Given the description of an element on the screen output the (x, y) to click on. 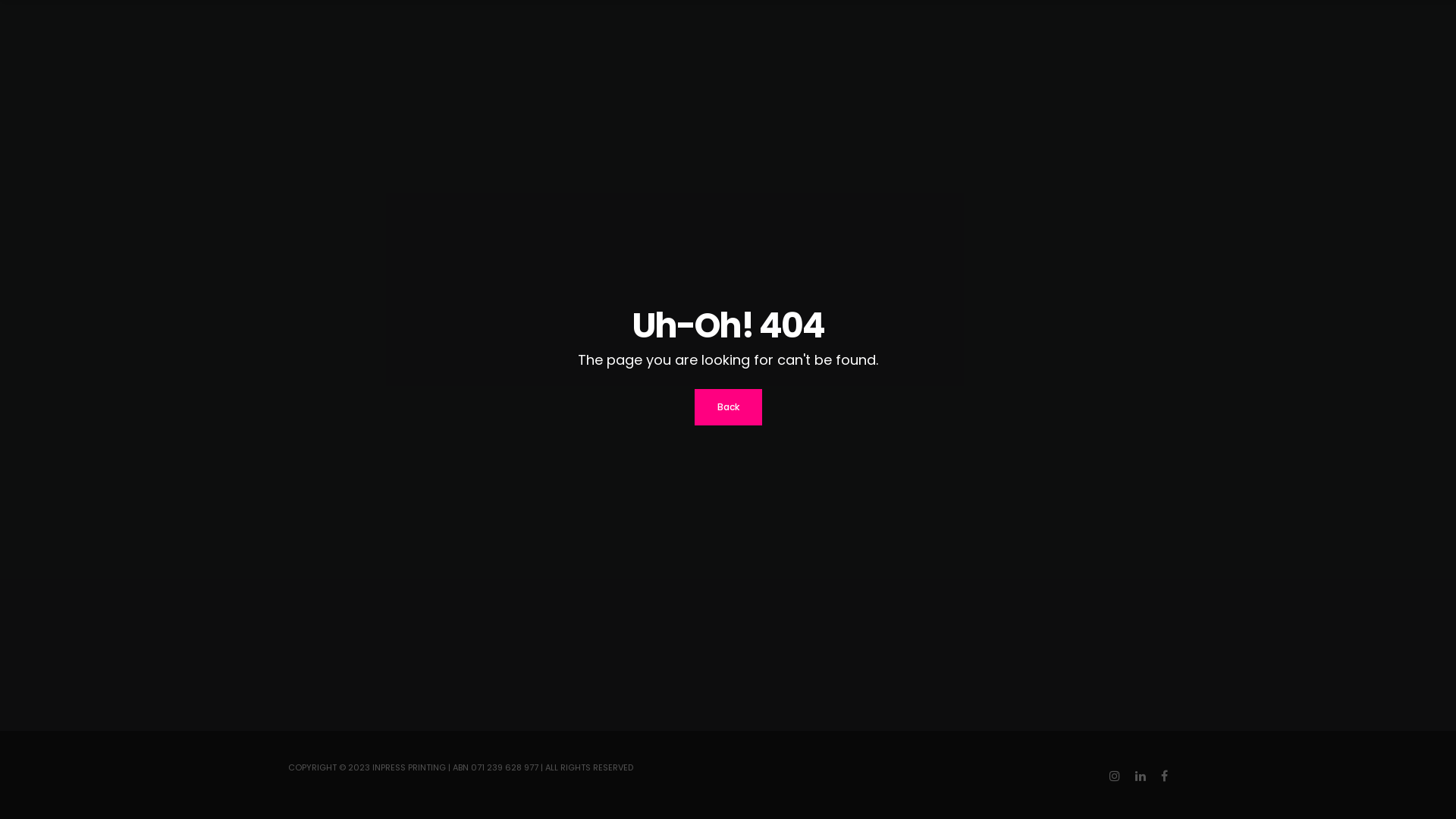
Back Element type: text (728, 407)
